Given the description of an element on the screen output the (x, y) to click on. 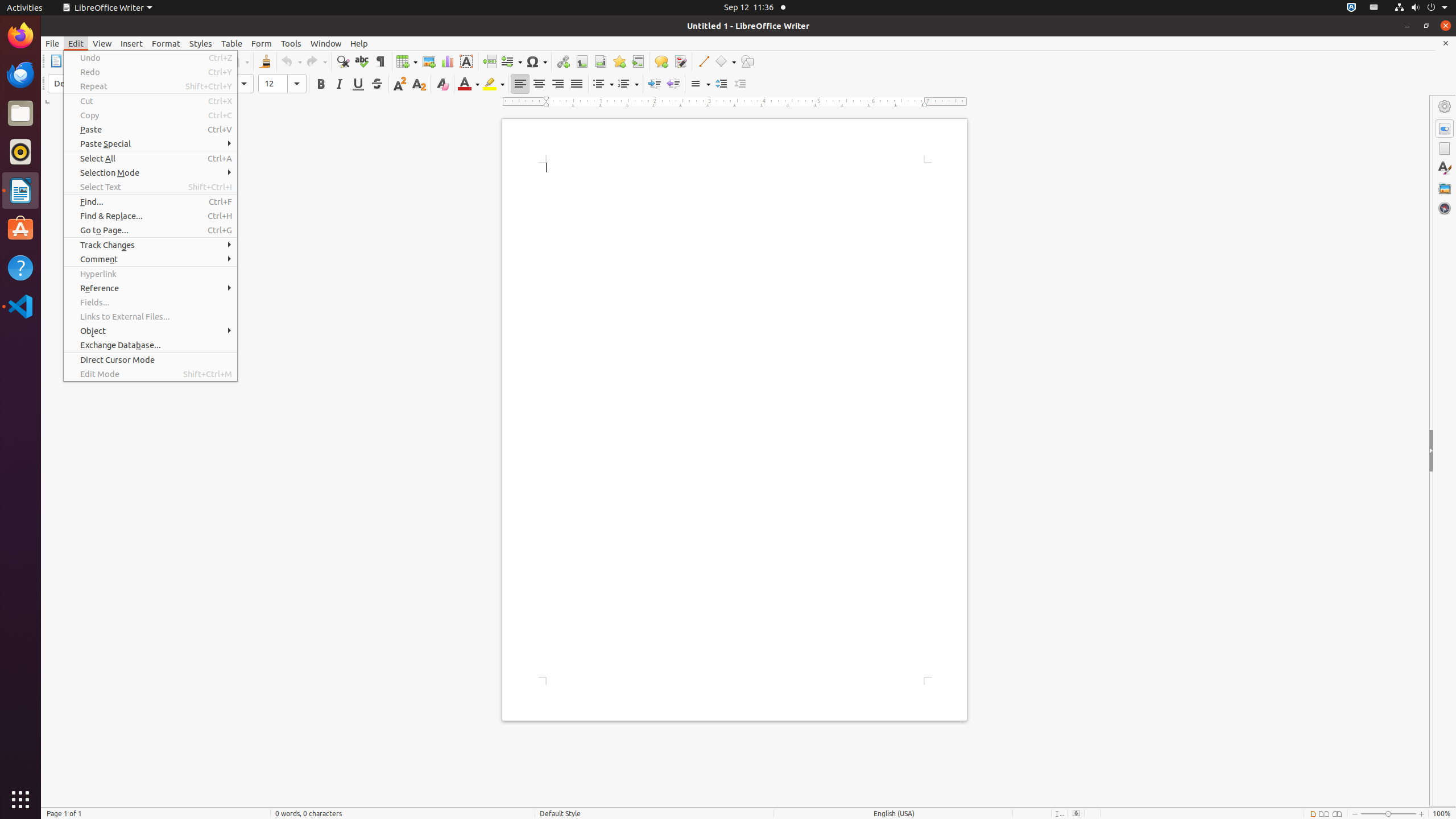
Decrease Element type: push-button (739, 83)
Table Element type: menu (231, 43)
Image Element type: push-button (428, 61)
Select All Element type: menu-item (150, 158)
Undo Element type: menu-item (150, 57)
